Given the description of an element on the screen output the (x, y) to click on. 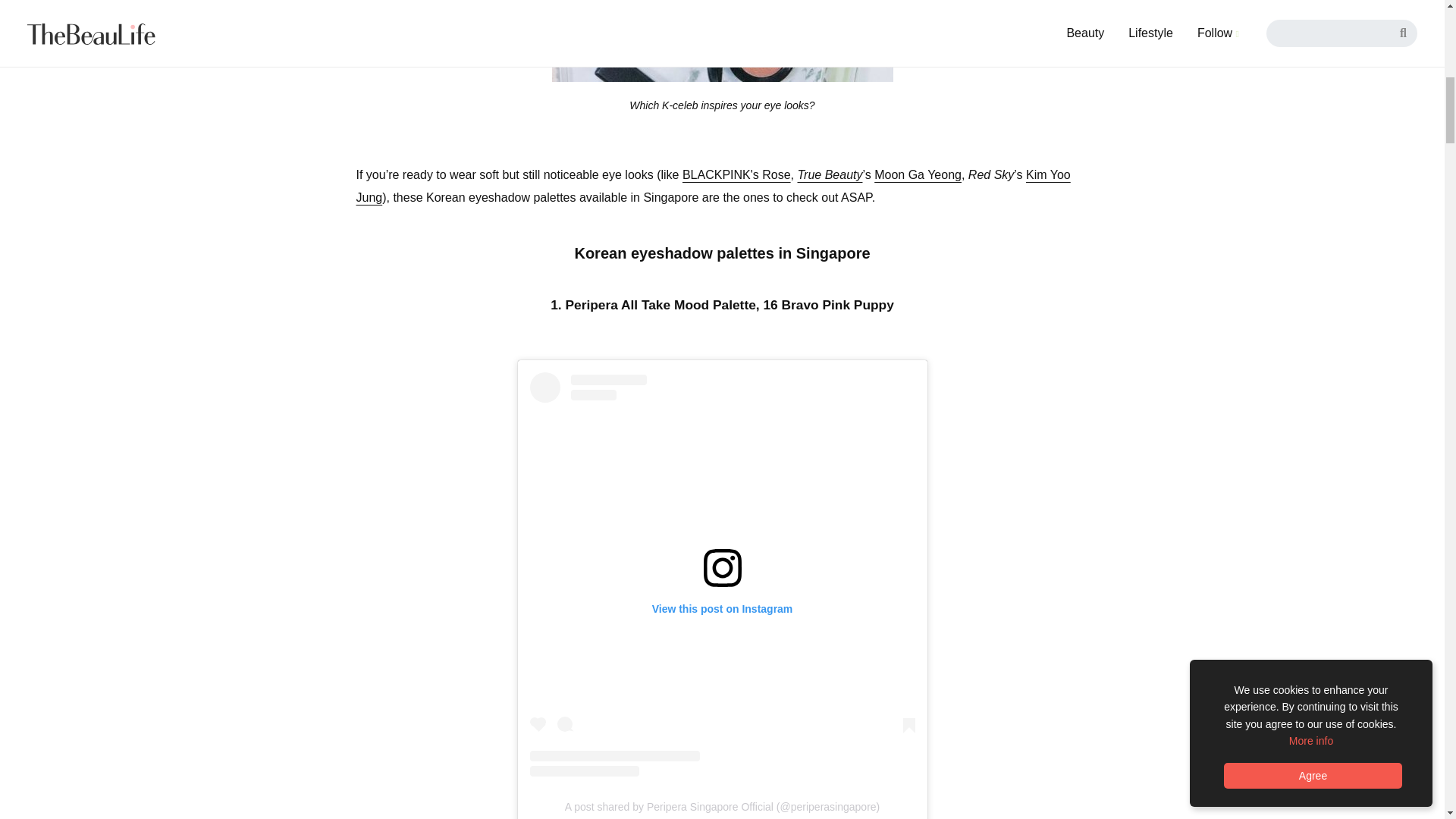
Korean eyeshadow palettes in Singapore (722, 40)
